Given the description of an element on the screen output the (x, y) to click on. 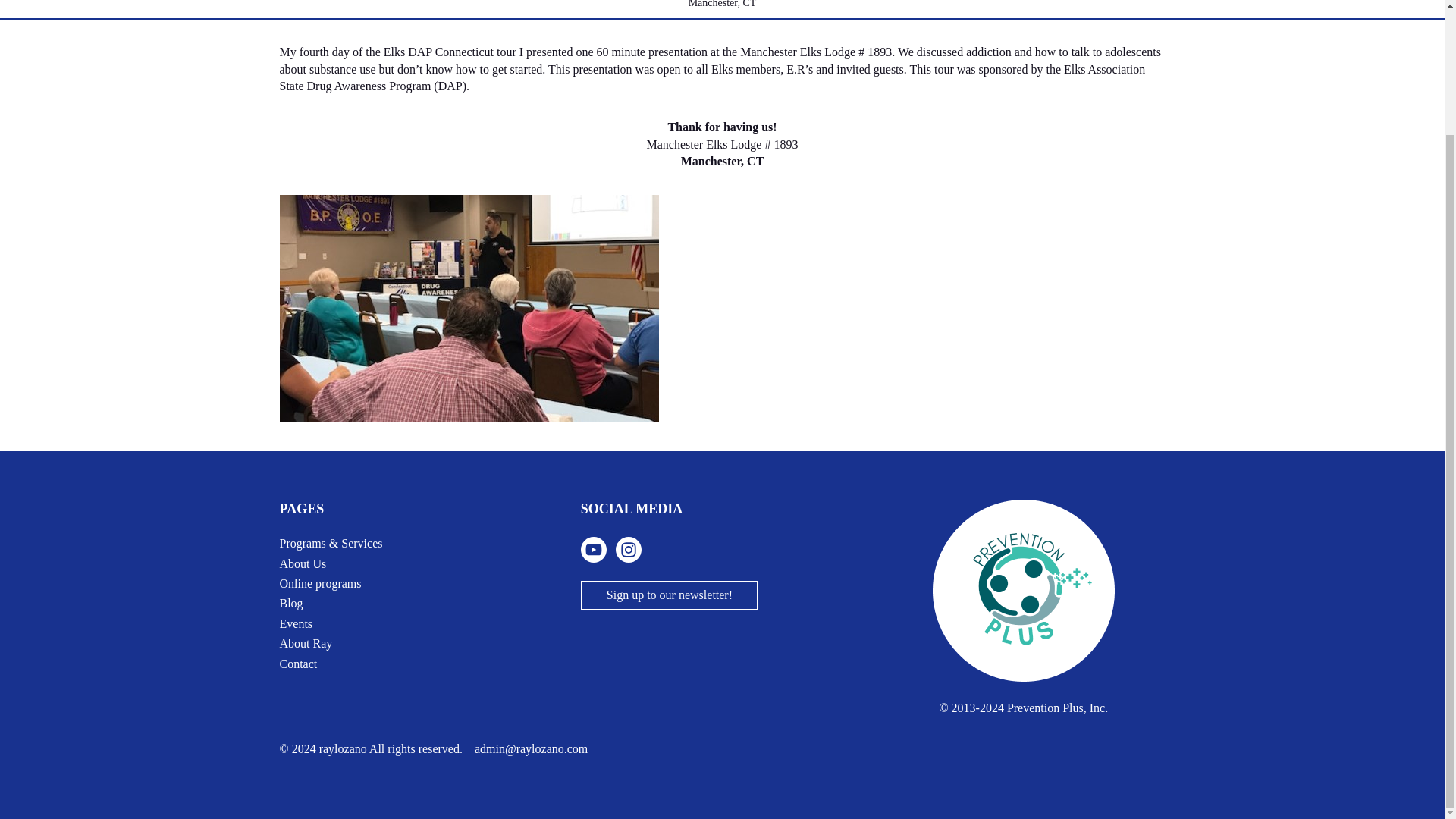
Sign up to our newsletter! (669, 594)
Online programs (320, 583)
Blog (290, 603)
Contact (298, 663)
Events (296, 623)
About Us (302, 563)
About Ray (305, 643)
